Given the description of an element on the screen output the (x, y) to click on. 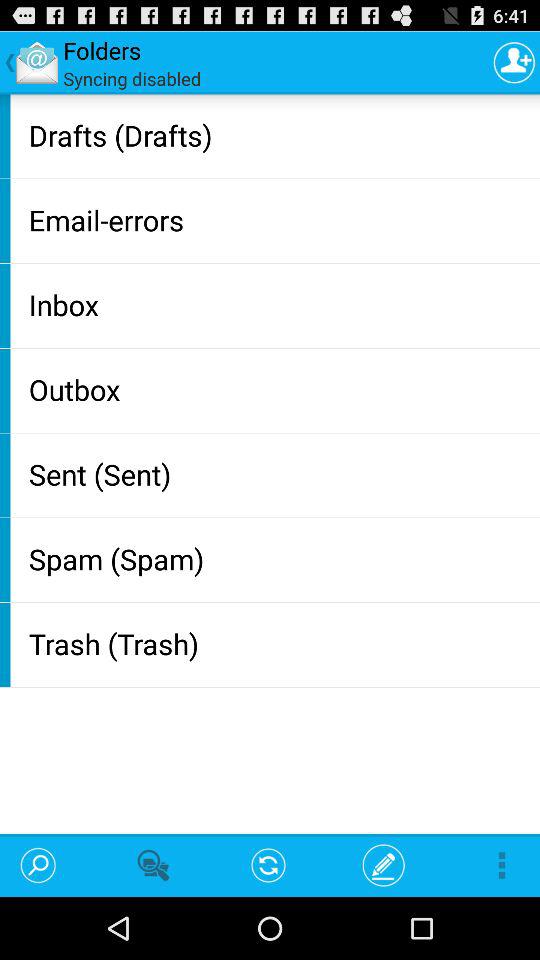
select item below the spam (spam) item (280, 643)
